Given the description of an element on the screen output the (x, y) to click on. 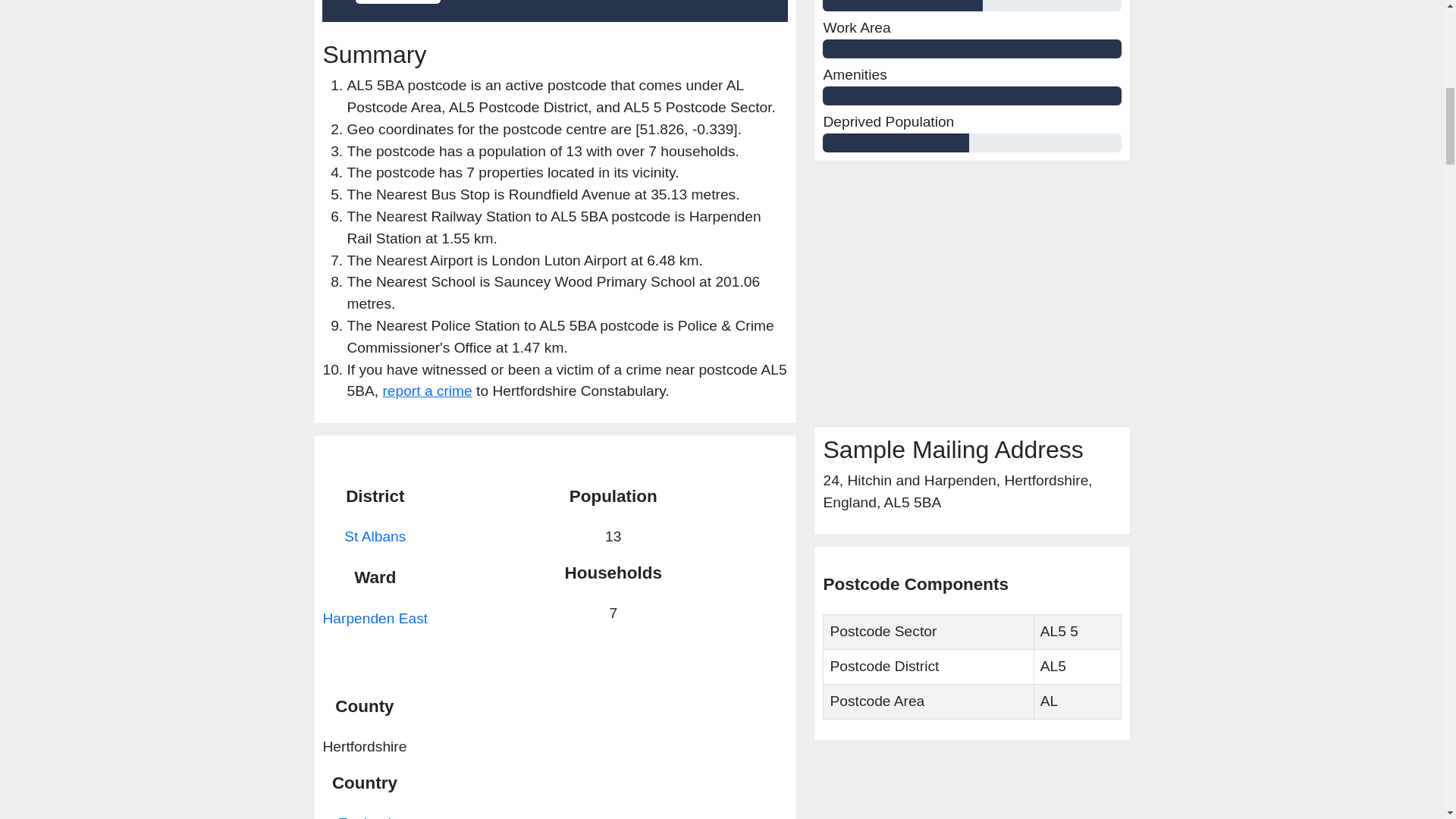
report a crime (426, 390)
St Albans (374, 536)
